Given the description of an element on the screen output the (x, y) to click on. 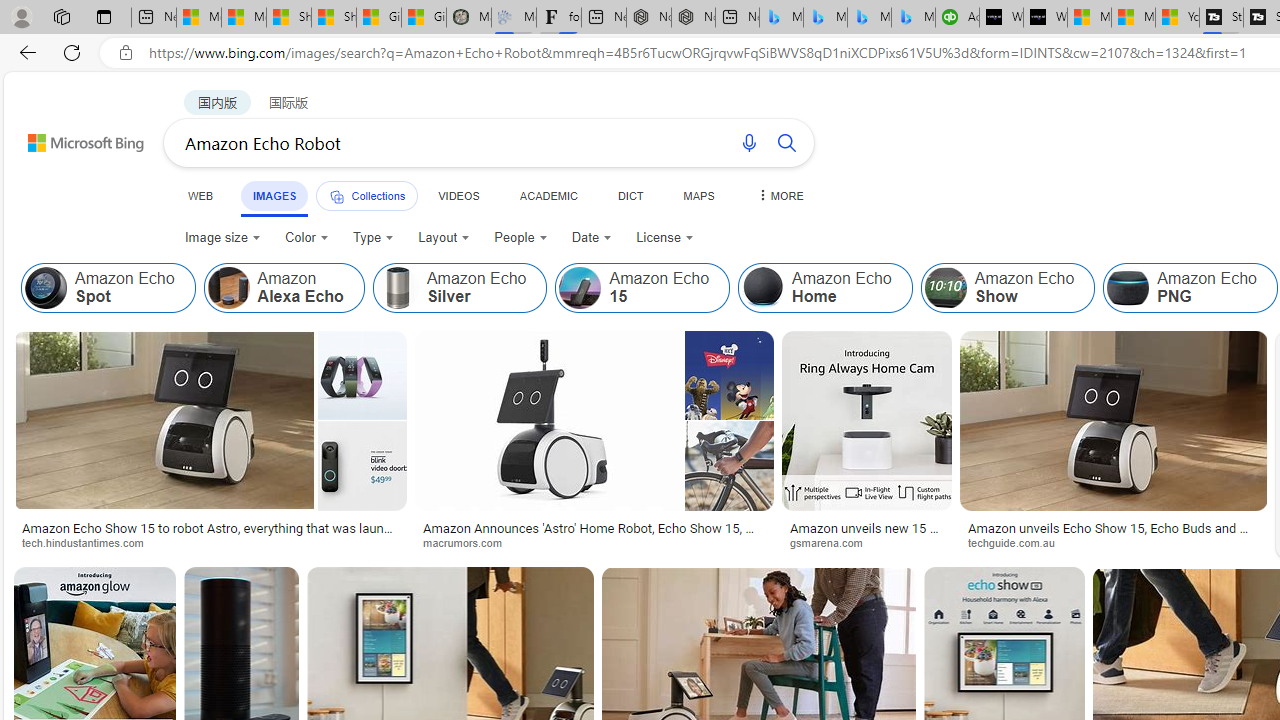
VIDEOS (458, 195)
MORE (779, 195)
Amazon Echo Spot (107, 287)
People (521, 237)
Amazon Alexa Echo (228, 287)
Amazon Echo Show (945, 287)
IMAGES (274, 195)
Type (372, 237)
ACADEMIC (548, 195)
